Given the description of an element on the screen output the (x, y) to click on. 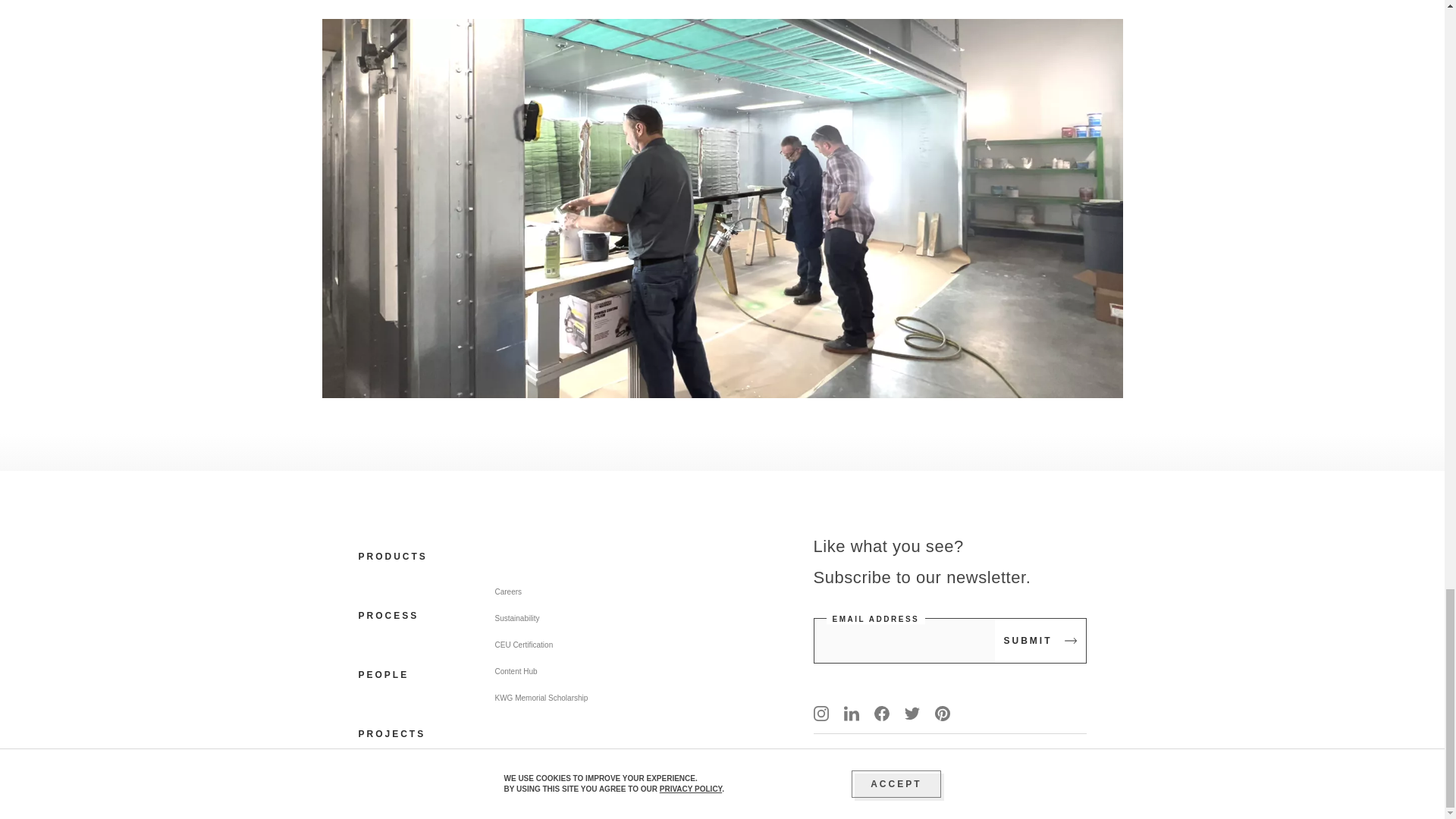
Twitter (911, 713)
Pinterest (941, 713)
Facebook (880, 713)
Instagram (820, 713)
LinkedIn (851, 713)
